Given the description of an element on the screen output the (x, y) to click on. 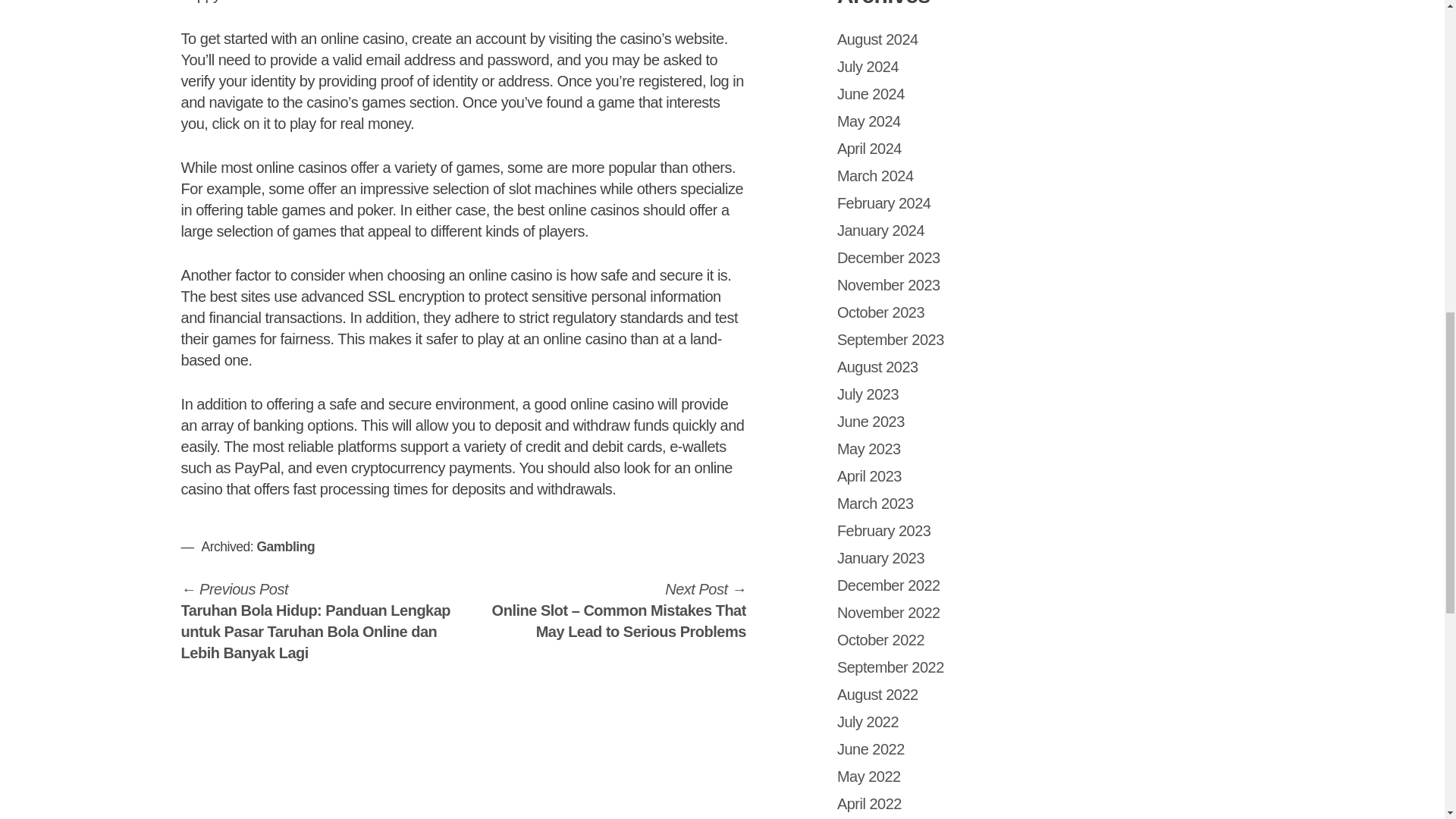
April 2024 (869, 148)
June 2024 (870, 93)
October 2022 (880, 639)
July 2023 (867, 393)
December 2022 (888, 585)
December 2023 (888, 257)
January 2024 (880, 230)
May 2024 (869, 121)
October 2023 (880, 312)
June 2023 (870, 421)
May 2023 (869, 448)
September 2023 (890, 339)
February 2024 (884, 202)
November 2023 (888, 284)
